Given the description of an element on the screen output the (x, y) to click on. 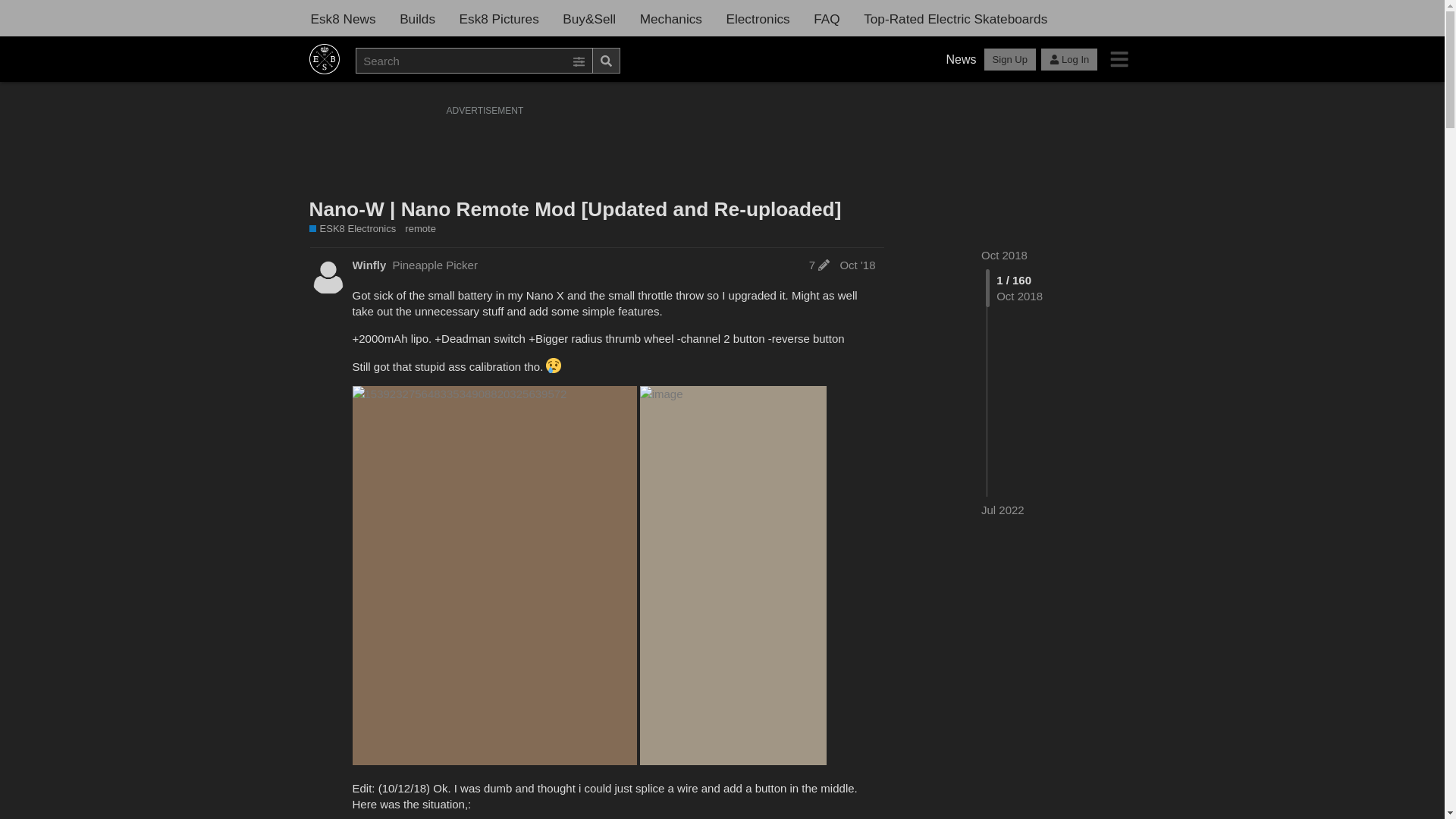
Electronics Element type: text (757, 18)
Buy&Sell Element type: text (588, 18)
Nano-W | Nano Remote Mod [Updated and Re-uploaded] Element type: text (575, 208)
News Element type: text (961, 59)
menu Element type: hover (1119, 59)
Oct 2018 Element type: text (1004, 254)
Log In Element type: text (1069, 59)
remote Element type: text (420, 228)
Jul 2022 Element type: text (1002, 509)
Sign Up Element type: text (1009, 59)
:cry: Element type: hover (553, 365)
FAQ Element type: text (826, 18)
Advertisement Element type: hover (721, 153)
Esk8 Pictures Element type: text (499, 18)
Oct '18 Element type: text (857, 264)
image Element type: hover (733, 575)
Esk8 News Element type: text (343, 18)
Top-Rated Electric Skateboards Element type: text (955, 18)
Open advanced search Element type: hover (578, 61)
ESK8 Electronics Element type: text (352, 228)
Mechanics Element type: text (670, 18)
15392327564833534908820325639572 Element type: hover (493, 575)
Builds Element type: text (417, 18)
7 Element type: text (819, 264)
Winfly Element type: text (368, 265)
